Given the description of an element on the screen output the (x, y) to click on. 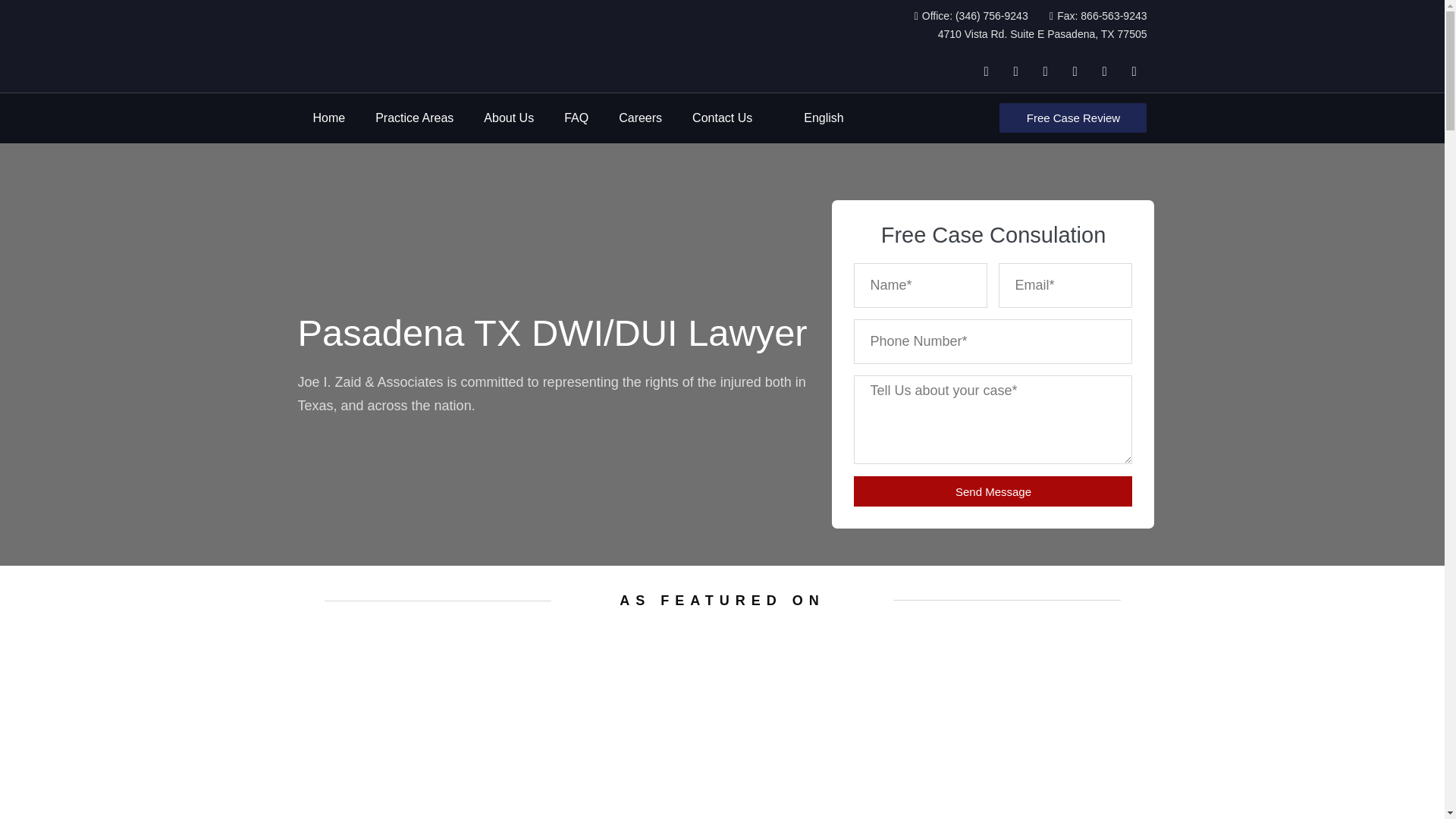
English (792, 117)
4710 Vista Rd. Suite E Pasadena, TX 77505 (1042, 34)
Home (328, 117)
Practice Areas (413, 117)
Fax: 866-563-9243 (1094, 16)
